Given the description of an element on the screen output the (x, y) to click on. 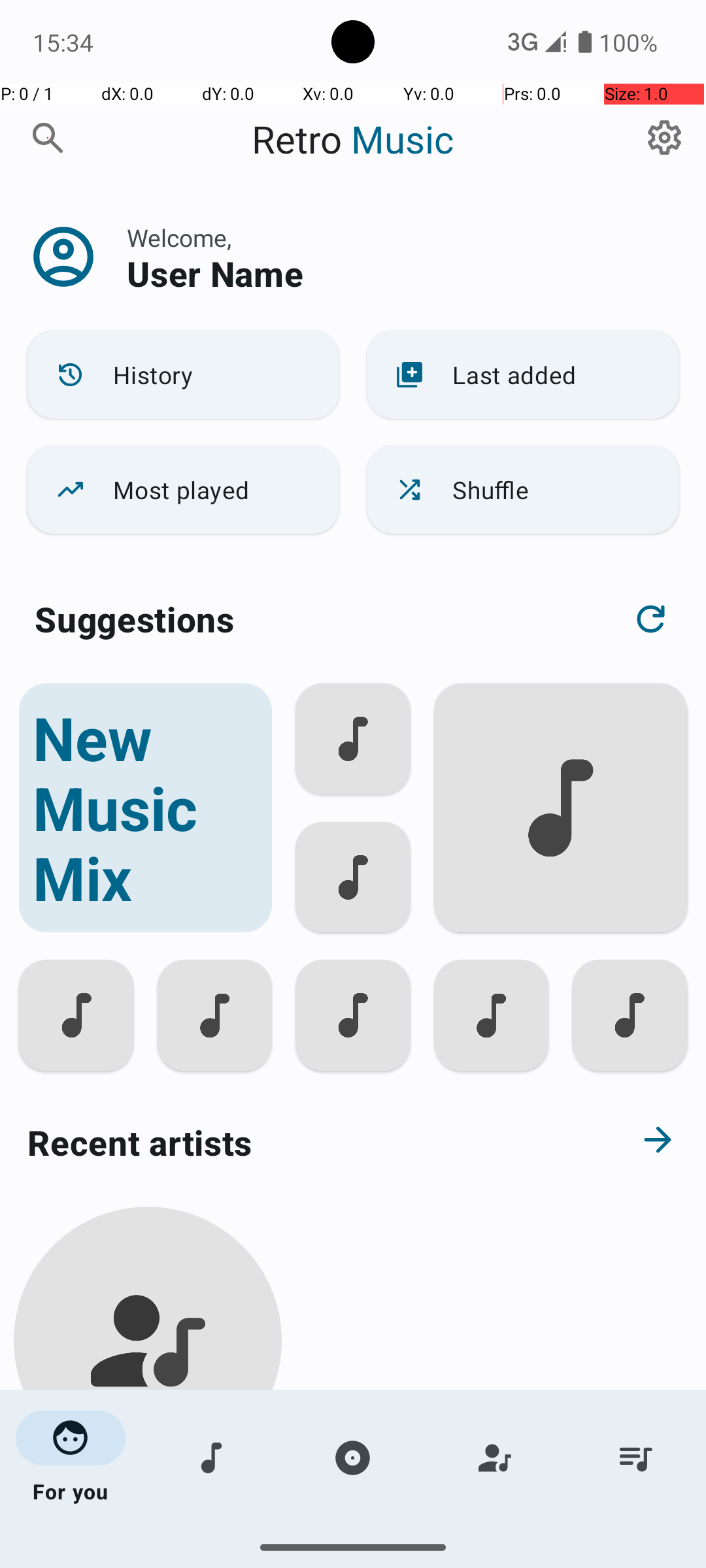
Sophie Element type: android.widget.TextView (147, 1503)
